Given the description of an element on the screen output the (x, y) to click on. 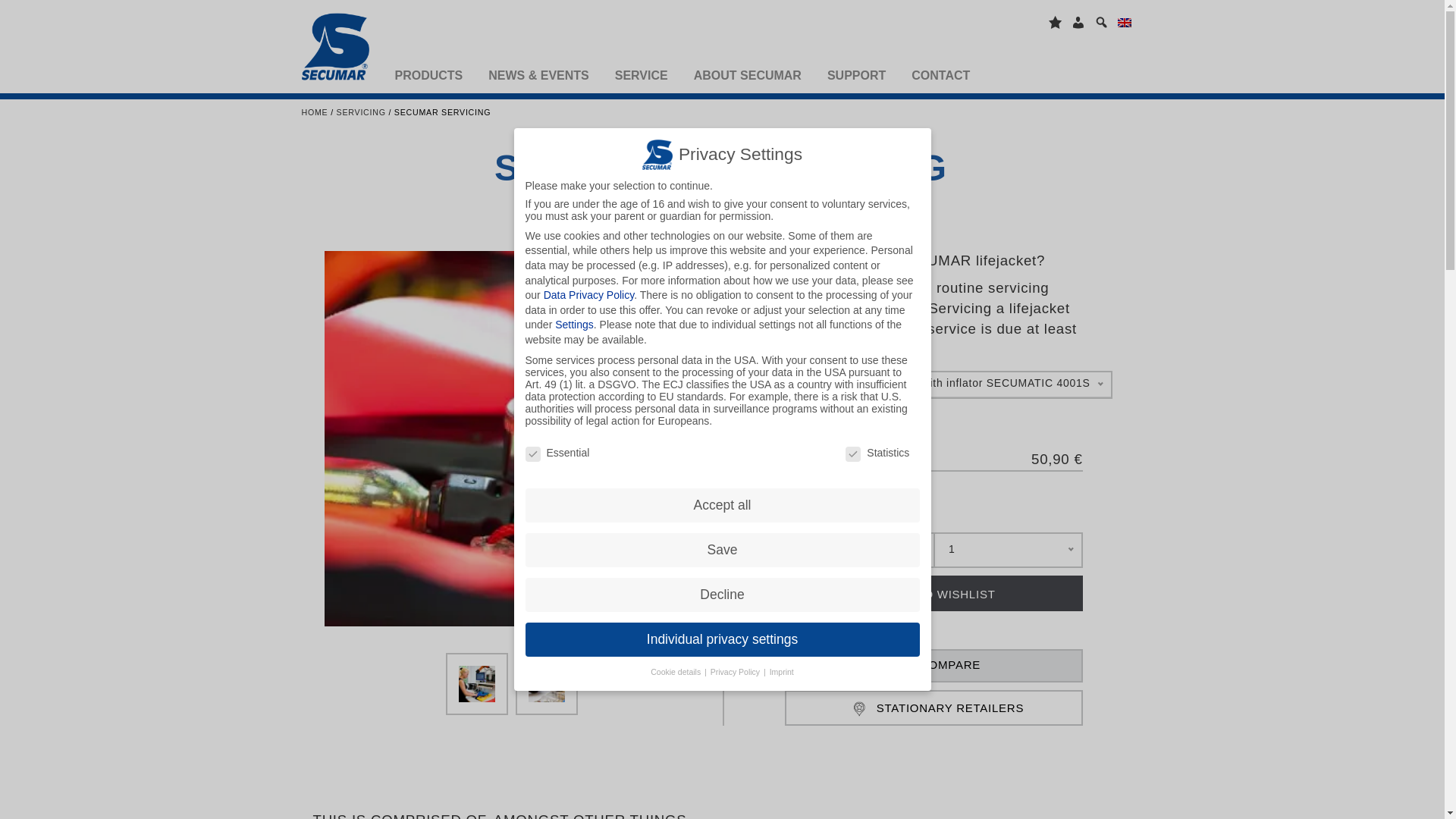
SECUMAR Service (546, 683)
SECUMAR Service (476, 683)
PRODUCTS (428, 74)
SECUMAR (341, 49)
